Given the description of an element on the screen output the (x, y) to click on. 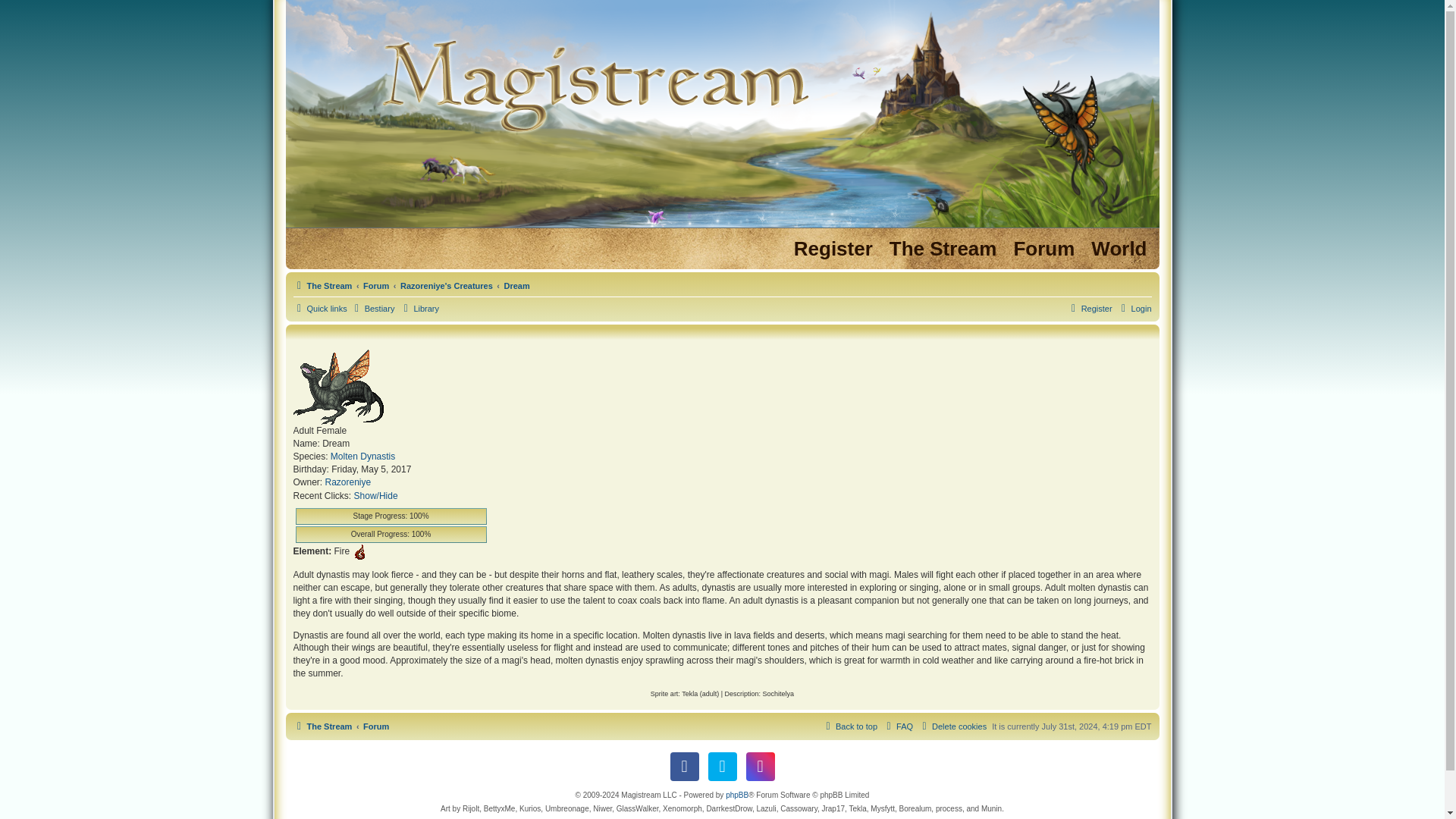
The Stream (322, 726)
Forum (375, 726)
The Stream (322, 285)
Login (1134, 308)
Forum (375, 285)
Dream (516, 285)
The main Stream to pick up creatures from (943, 248)
Molten Dynastis (362, 456)
Back to top (849, 726)
Delete cookies (952, 726)
Explore the World of Magistream (1118, 248)
Dream (516, 285)
Register (1089, 308)
Quick links (319, 308)
